Given the description of an element on the screen output the (x, y) to click on. 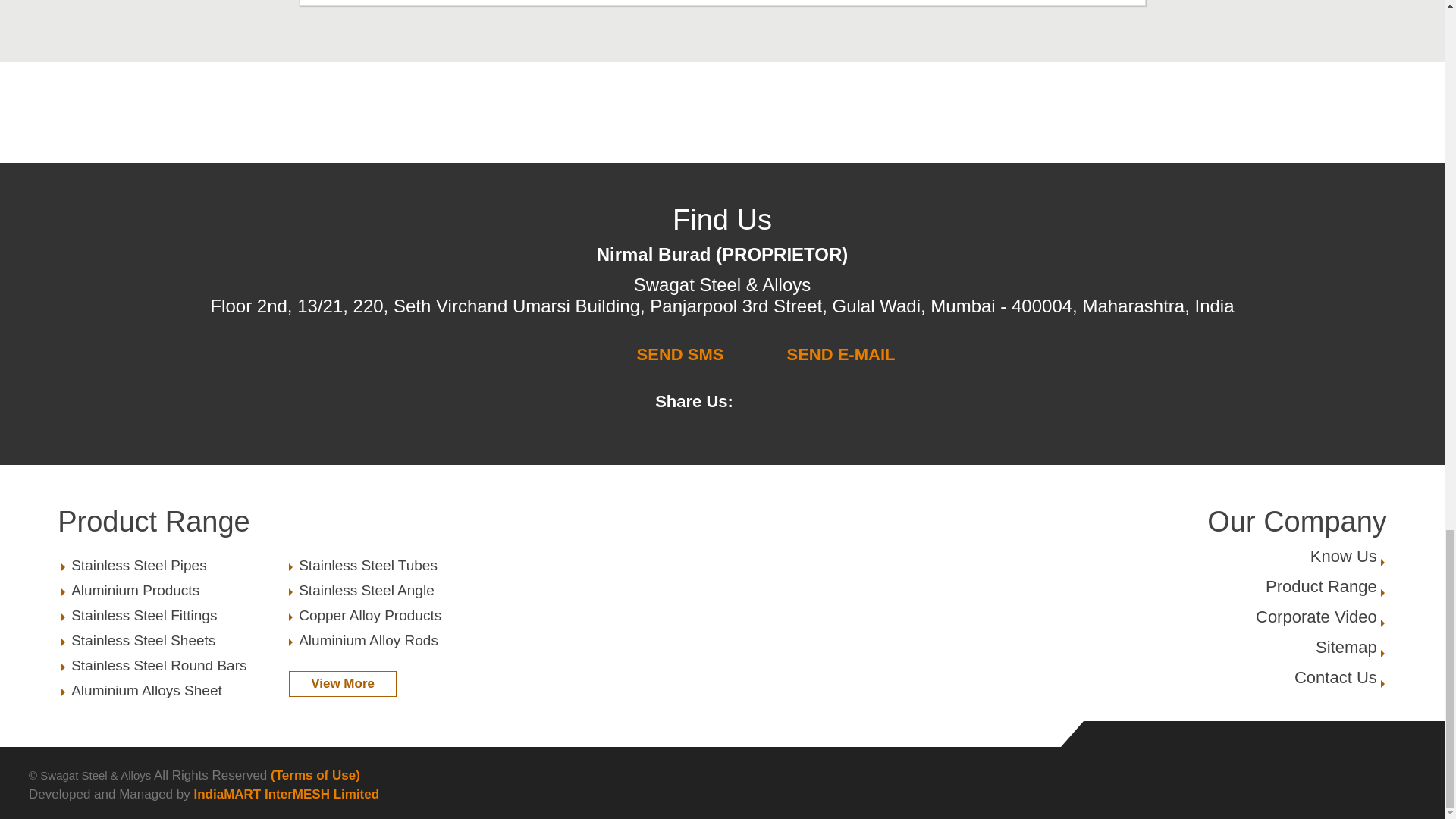
Product Range (285, 522)
IndiaMART InterMESH Limited (285, 794)
Aluminium Alloy Rods (399, 640)
Stainless Steel Round Bars (1335, 677)
Stainless Steel Sheets (1321, 586)
Aluminium Products (172, 665)
Copper Alloy Products (1346, 647)
Aluminium Alloys Sheet (172, 640)
Stainless Steel Pipes (172, 590)
Stainless Steel Tubes (399, 615)
Stainless Steel Angle (172, 690)
